Given the description of an element on the screen output the (x, y) to click on. 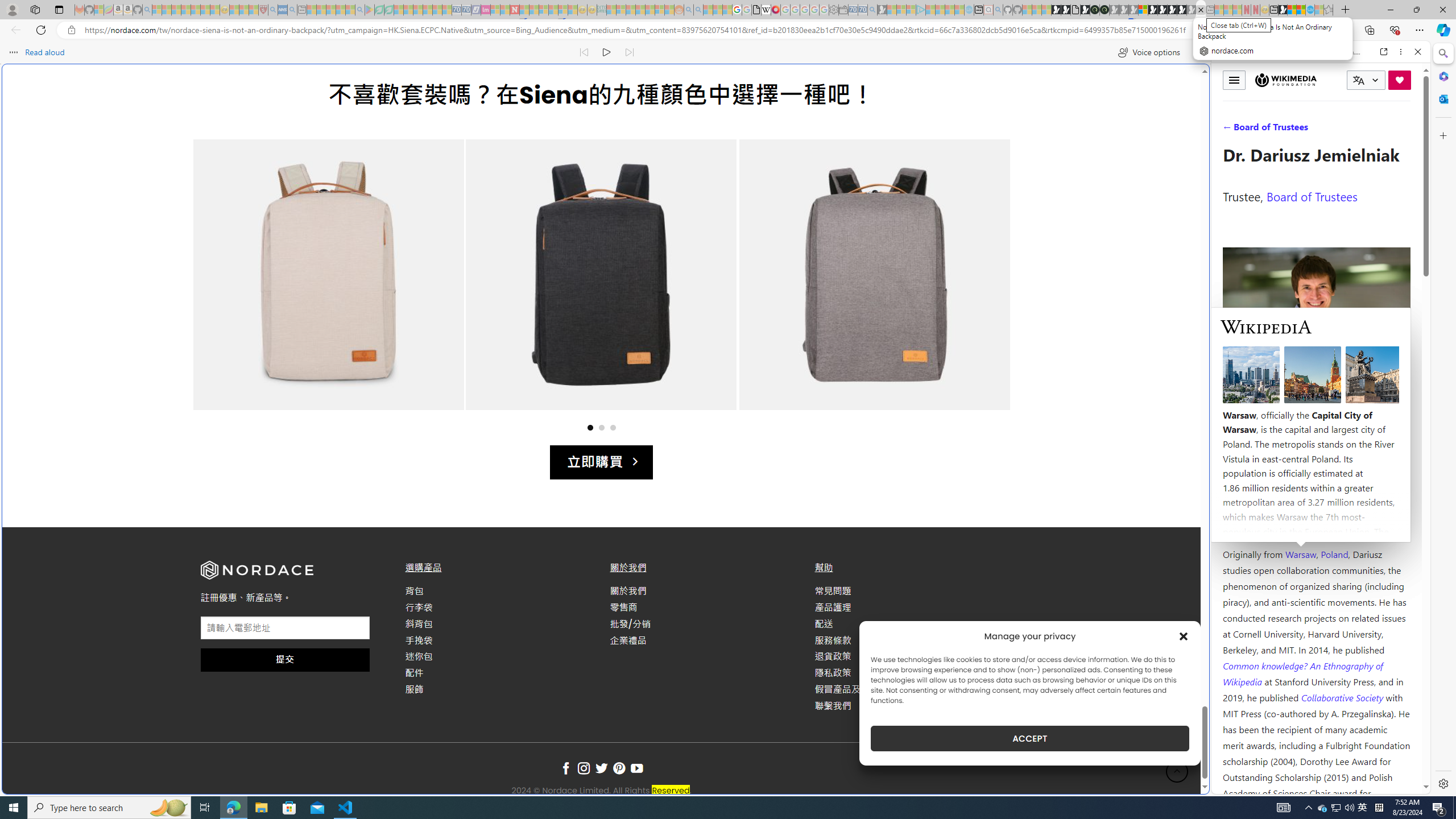
Class: i icon icon-translate language-switcher__icon (1358, 80)
utah sues federal government - Search - Sleeping (291, 9)
